Given the description of an element on the screen output the (x, y) to click on. 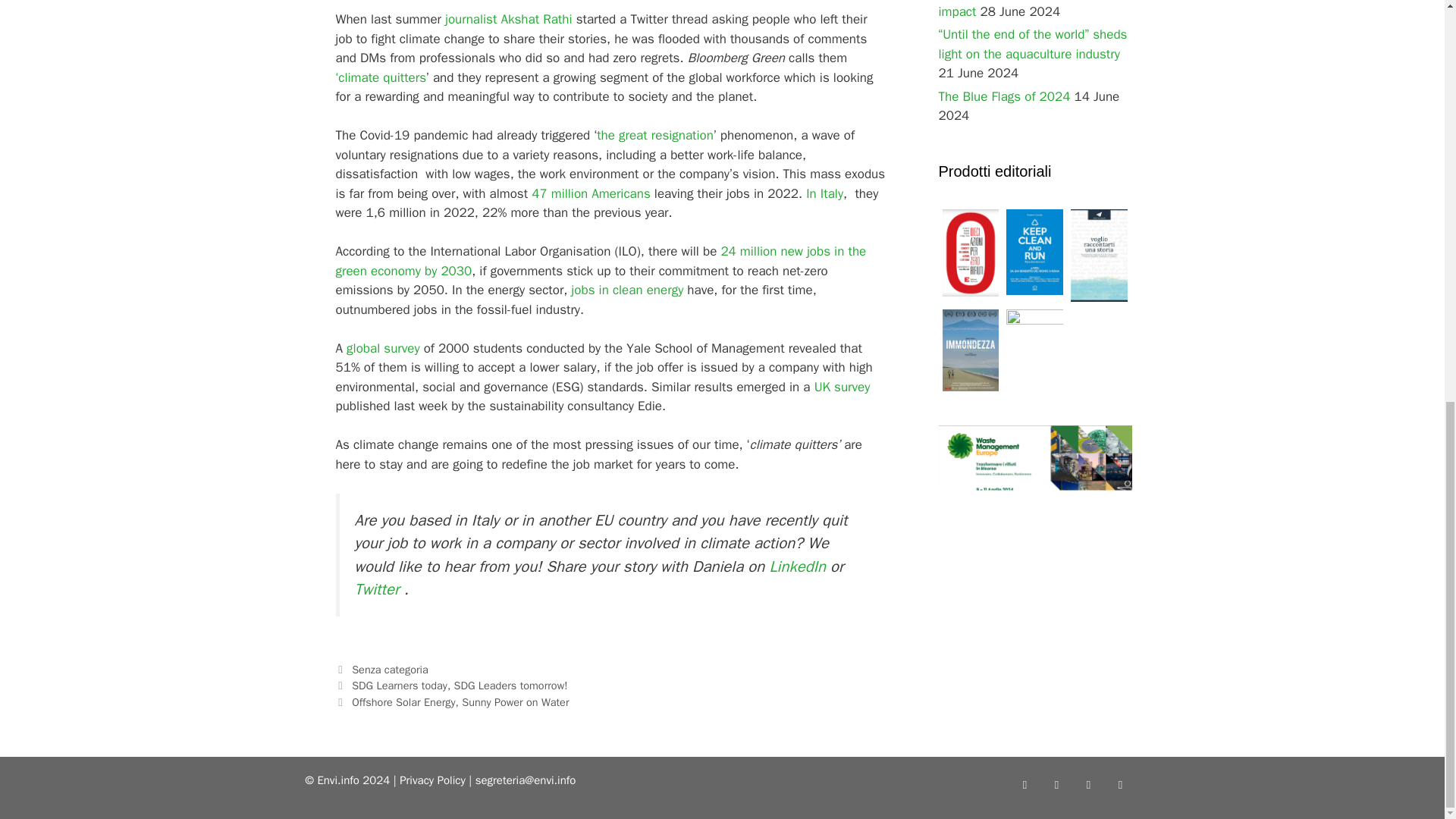
journalist Akshat Rathi (508, 19)
Instagram (1119, 784)
Facebook (1023, 784)
Twitter (1055, 784)
LinkedIn (1087, 784)
